Given the description of an element on the screen output the (x, y) to click on. 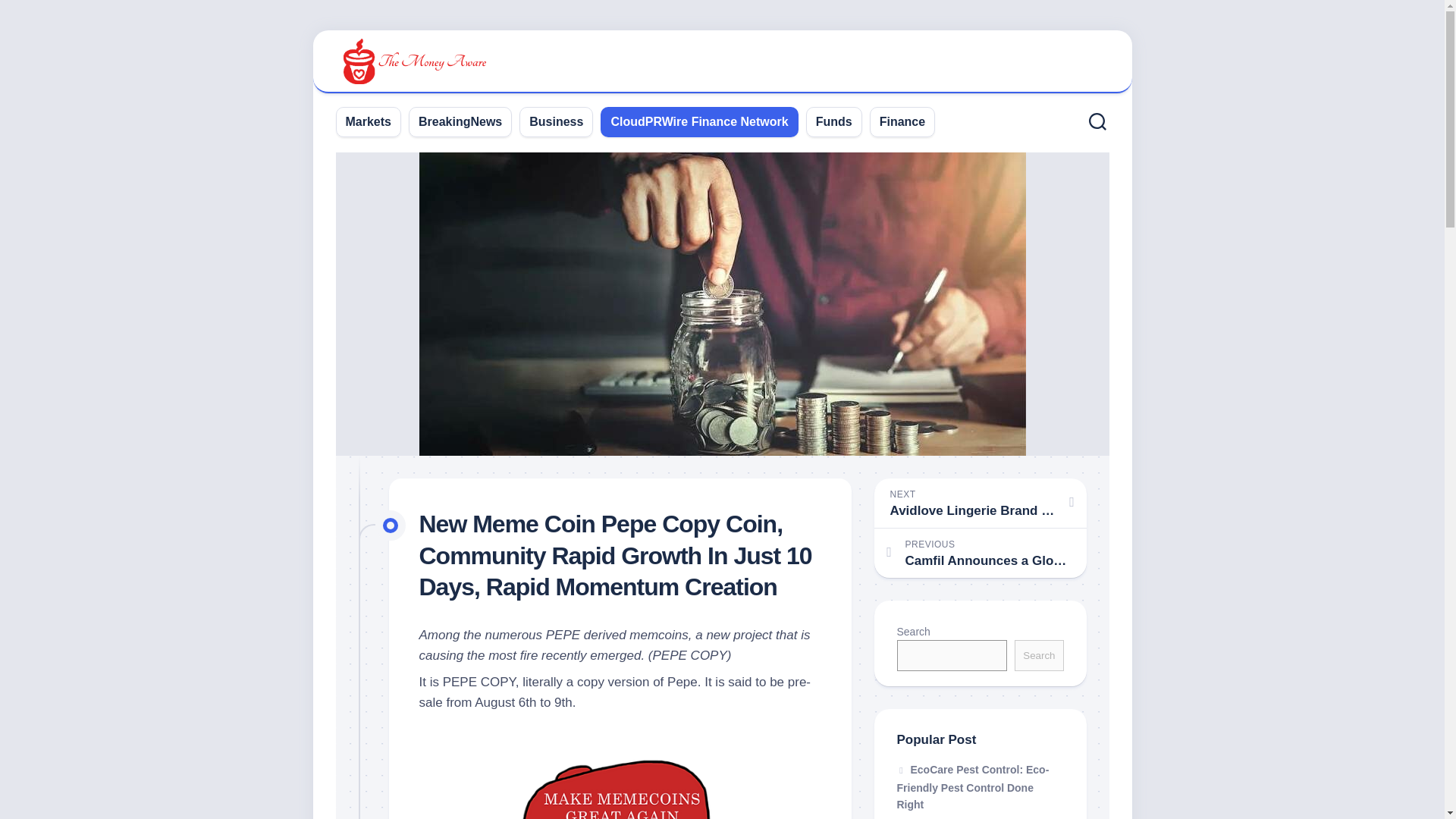
BreakingNews (460, 121)
Markets (368, 121)
Funds (833, 121)
EcoCare Pest Control: Eco-Friendly Pest Control Done Right (972, 786)
Business (556, 121)
CloudPRWire Finance Network (698, 121)
Finance (901, 121)
Search (1038, 654)
